Given the description of an element on the screen output the (x, y) to click on. 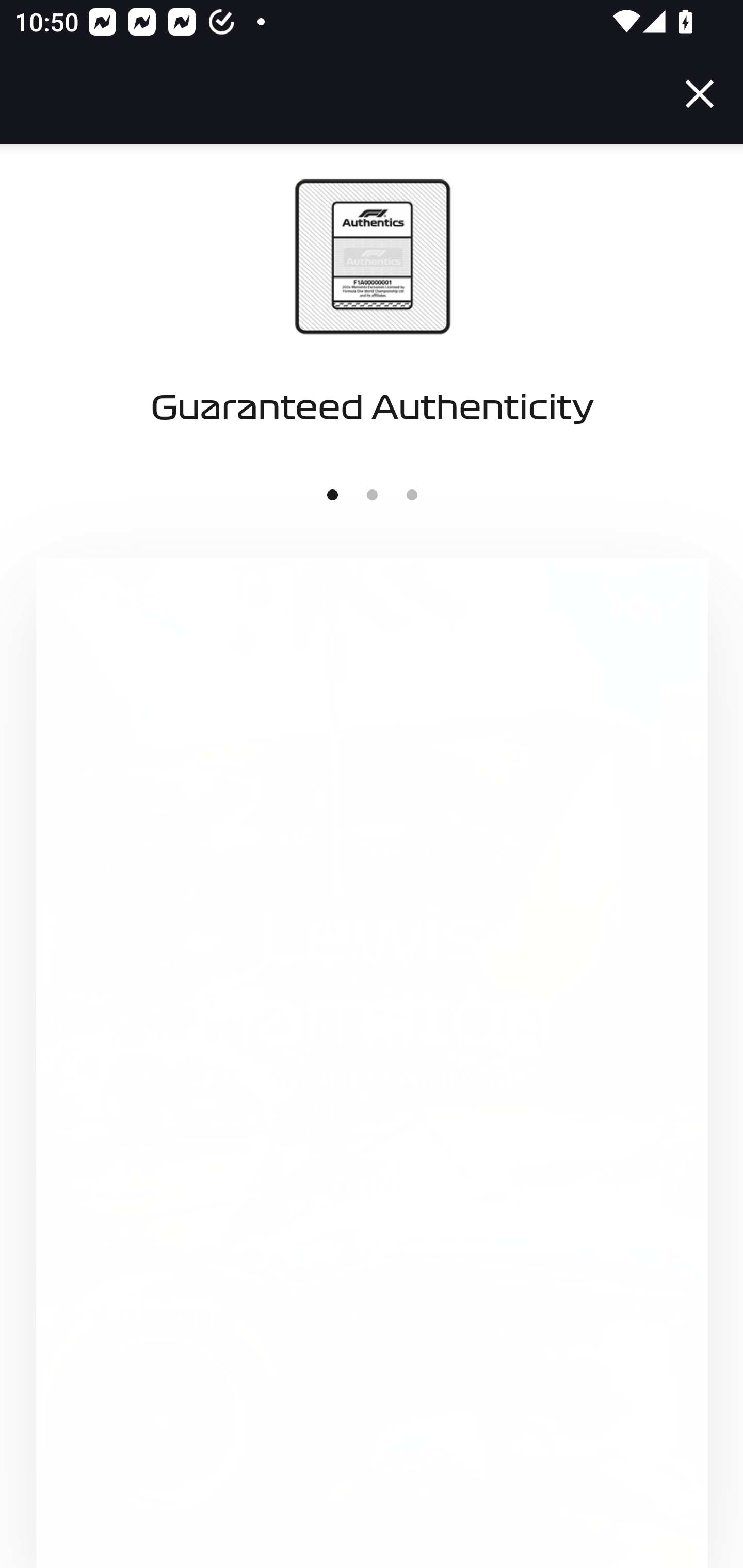
Close (699, 93)
Go to item 1 (332, 496)
Go to item 2 (371, 496)
Go to item 3 (411, 496)
